Given the description of an element on the screen output the (x, y) to click on. 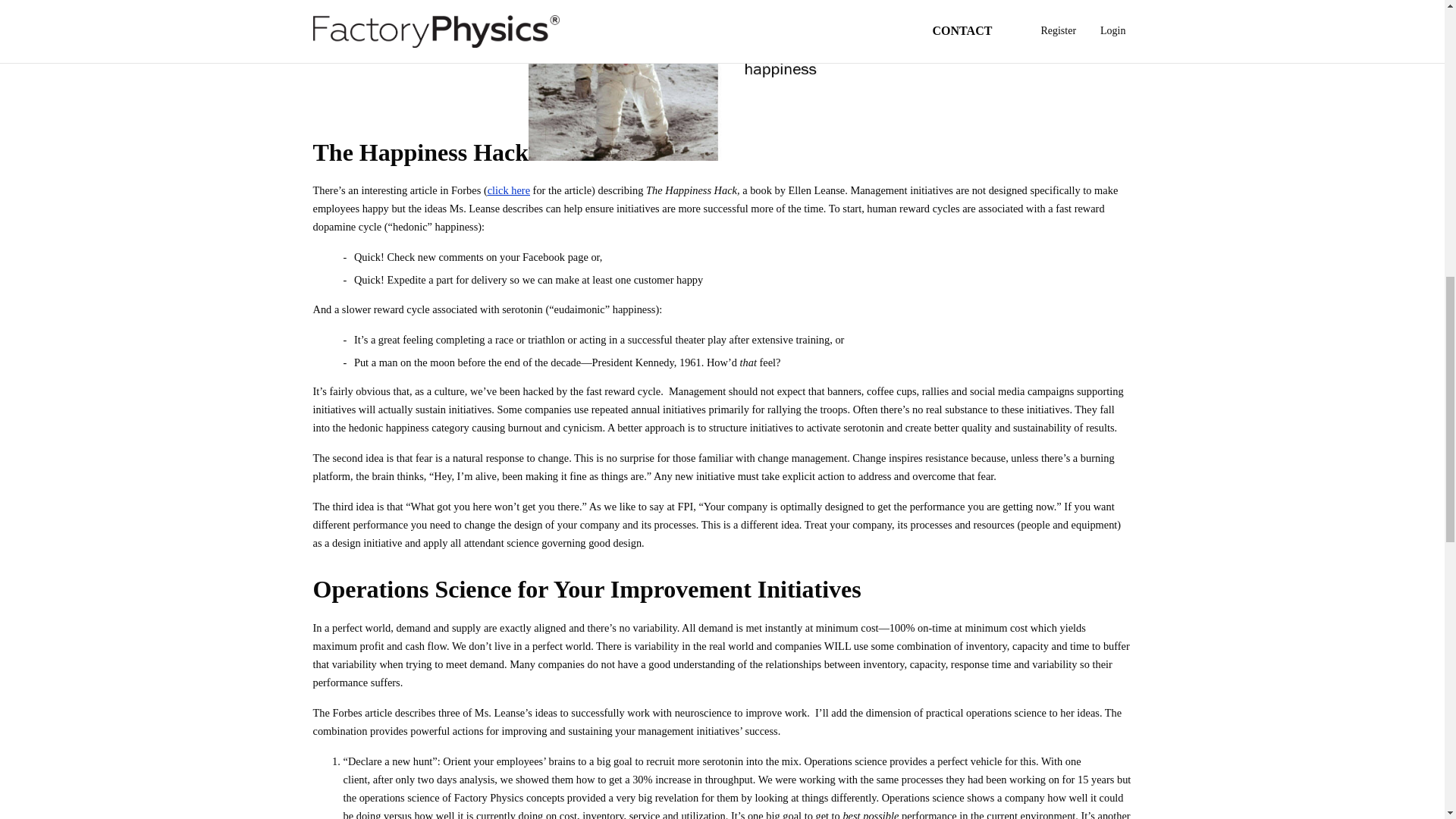
click here (508, 190)
